Given the description of an element on the screen output the (x, y) to click on. 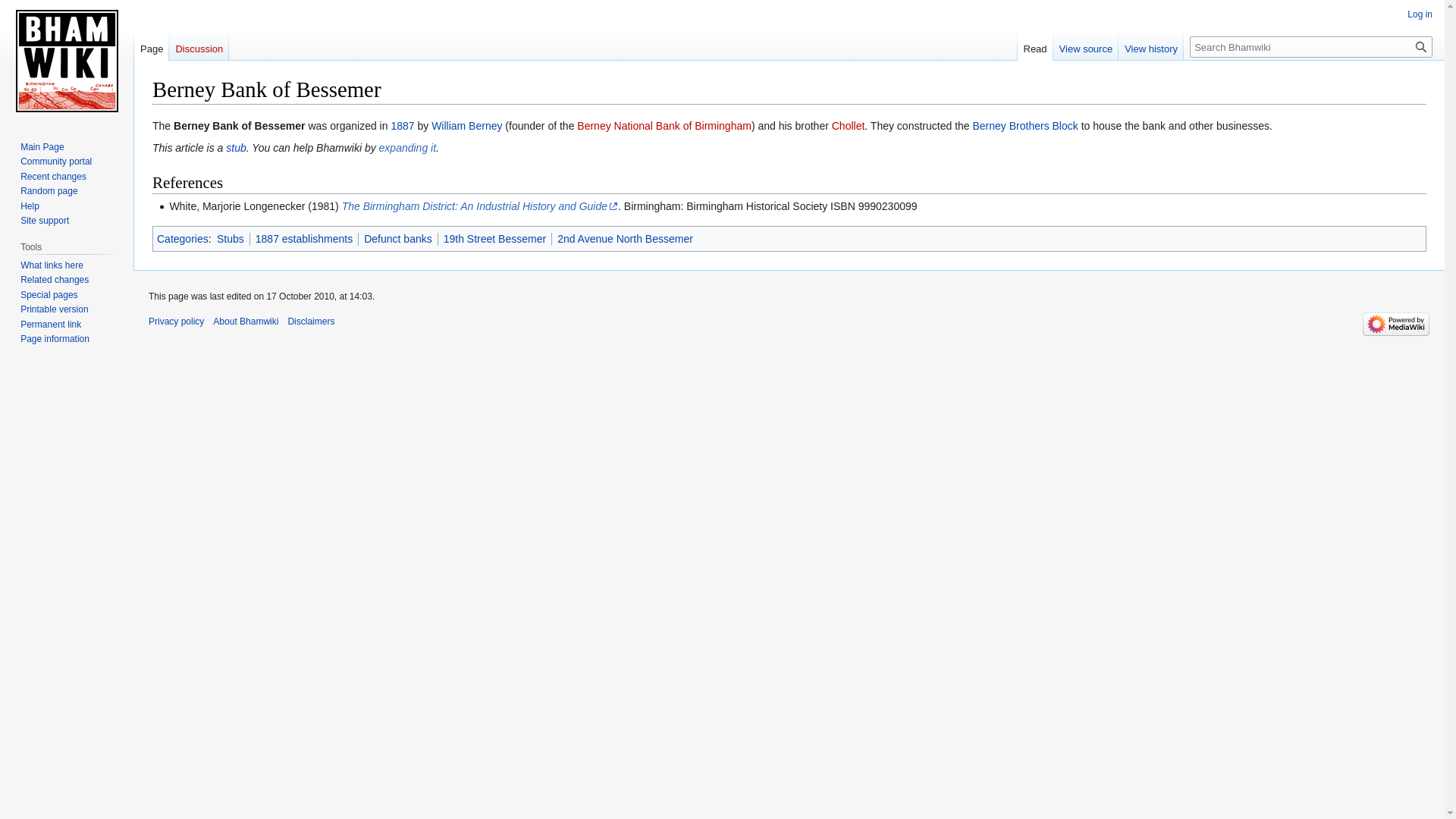
Discussion (198, 45)
Berney Brothers Block (1024, 125)
Site support (44, 220)
William Berney (466, 125)
Bhamwiki:Stub (235, 147)
Stubs (230, 238)
What links here (51, 265)
Category:1887 establishments (304, 238)
1887 (401, 125)
Search (1420, 46)
